Given the description of an element on the screen output the (x, y) to click on. 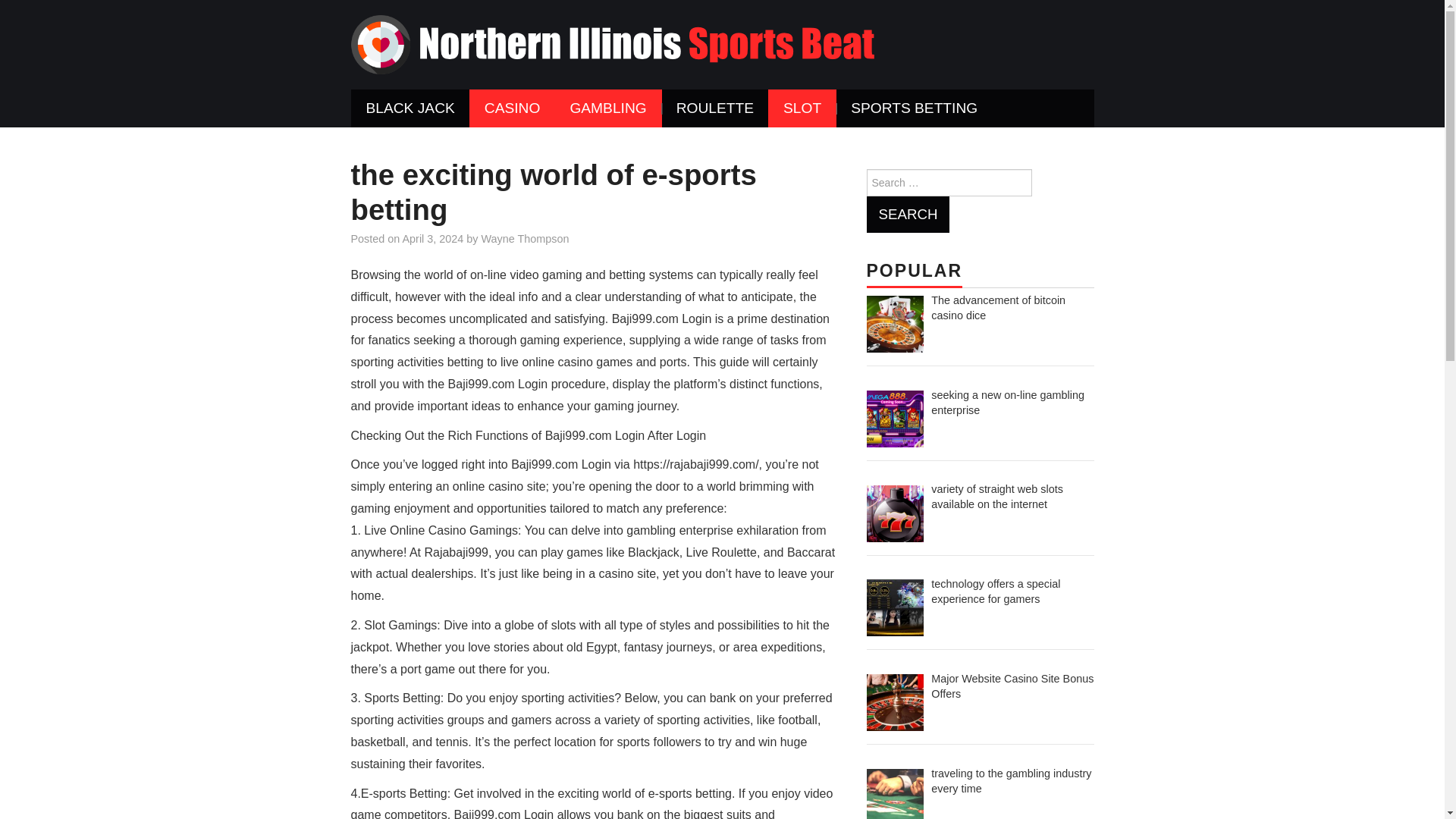
Major Website Casino Site Bonus Offers (1012, 686)
northernillinoissportsbeat.com (611, 42)
Search (907, 214)
View all posts by Wayne Thompson (525, 238)
Search (907, 214)
Search for: (948, 182)
seeking a new on-line gambling enterprise (1007, 402)
Wayne Thompson (525, 238)
The advancement of bitcoin casino dice (998, 307)
technology offers a special experience for gamers (995, 591)
